Given the description of an element on the screen output the (x, y) to click on. 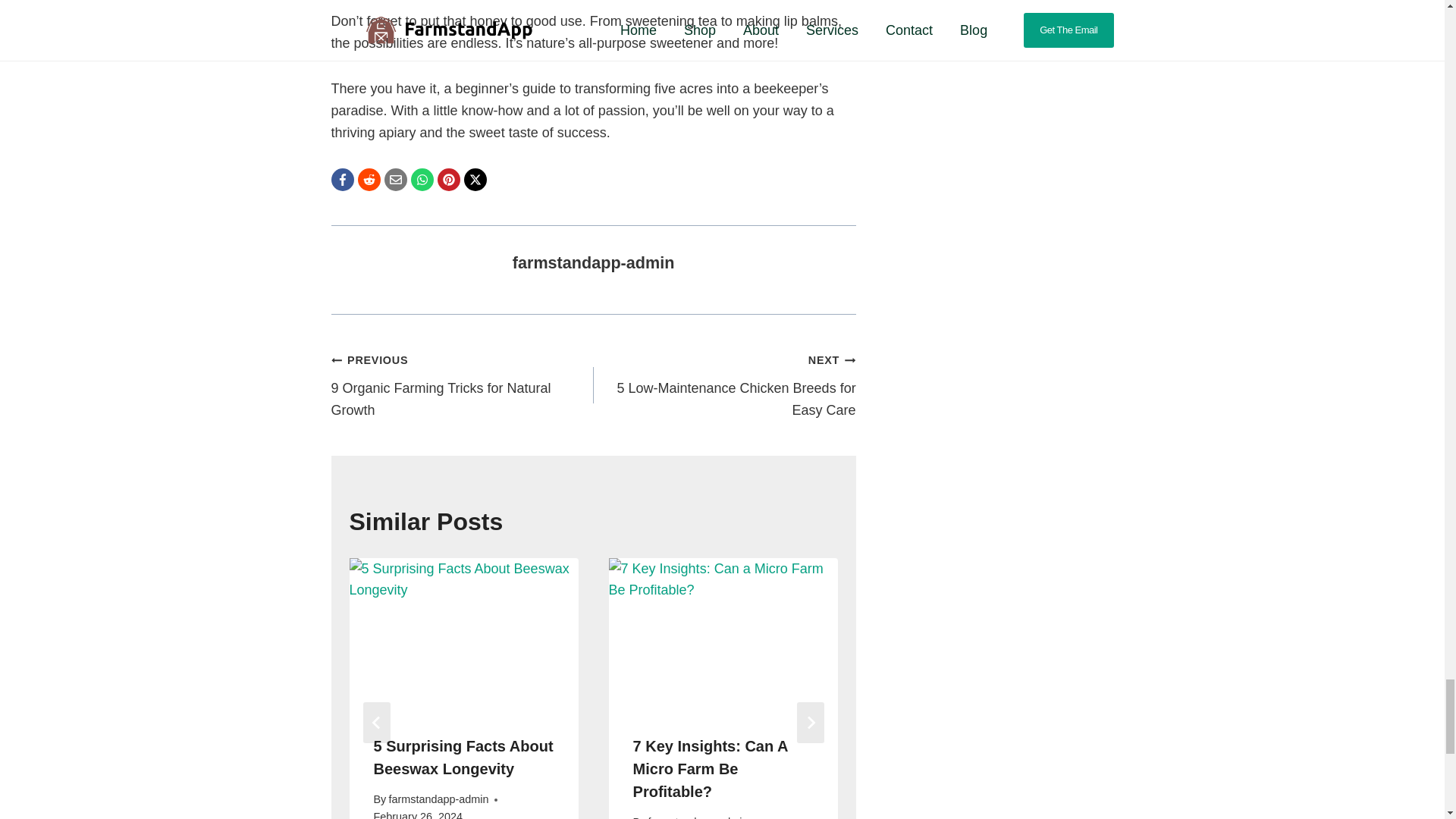
7 Key Insights: Can a Micro Farm Be Profitable? 10 (723, 633)
5 Surprising Facts About Beeswax Longevity 9 (463, 633)
5 Surprising Facts About Beeswax Longevity (461, 384)
farmstandapp-admin (462, 757)
